Given the description of an element on the screen output the (x, y) to click on. 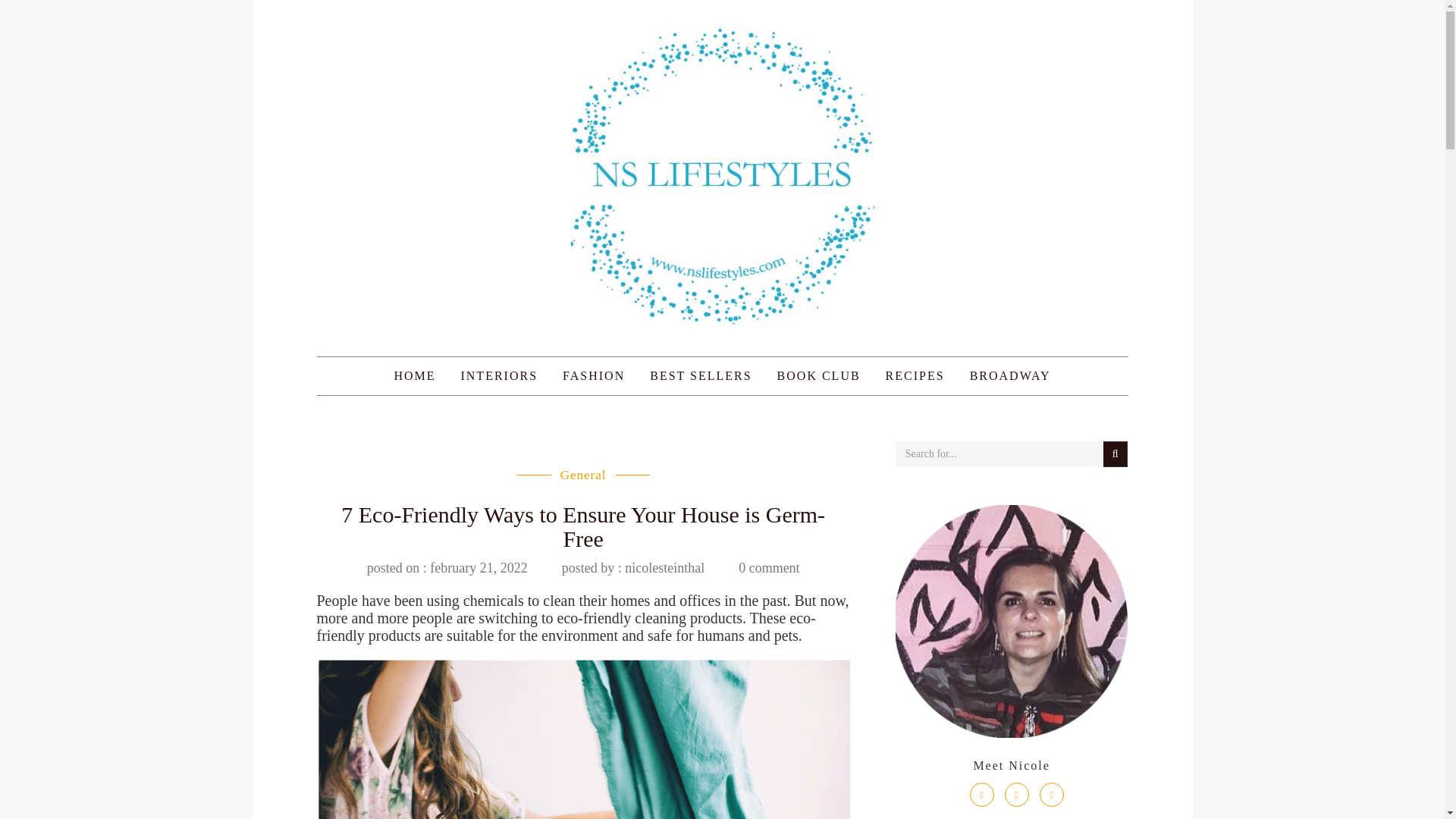
INTERIORS (498, 375)
FASHION (593, 375)
HOME (414, 375)
BEST SELLERS (700, 375)
General (583, 474)
BROADWAY (1010, 375)
RECIPES (915, 375)
posted on : february 21, 2022 (446, 567)
BOOK CLUB (818, 375)
posted by : nicolesteinthal (633, 567)
0 comment (768, 567)
